Given the description of an element on the screen output the (x, y) to click on. 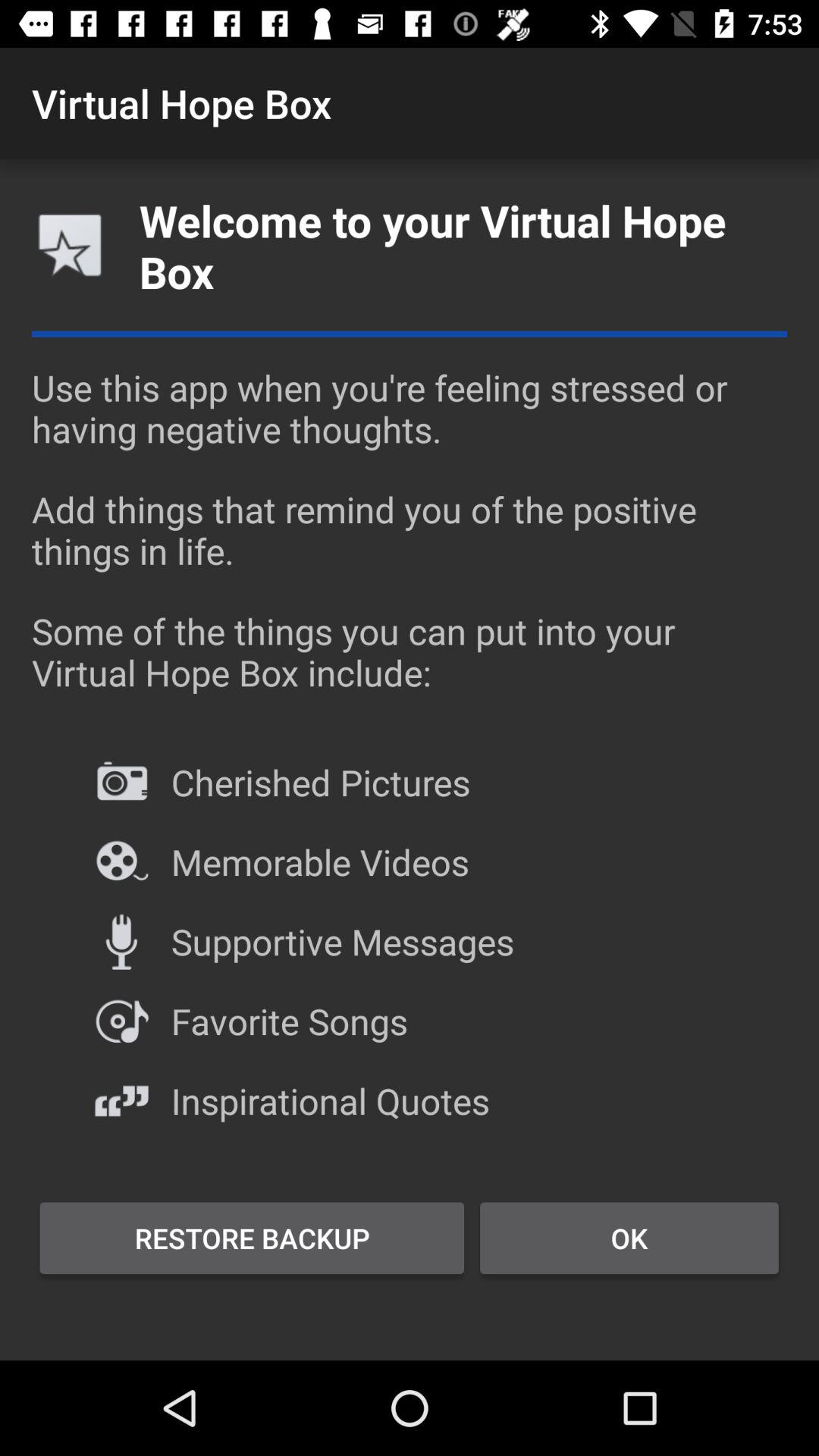
open the ok icon (629, 1237)
